Given the description of an element on the screen output the (x, y) to click on. 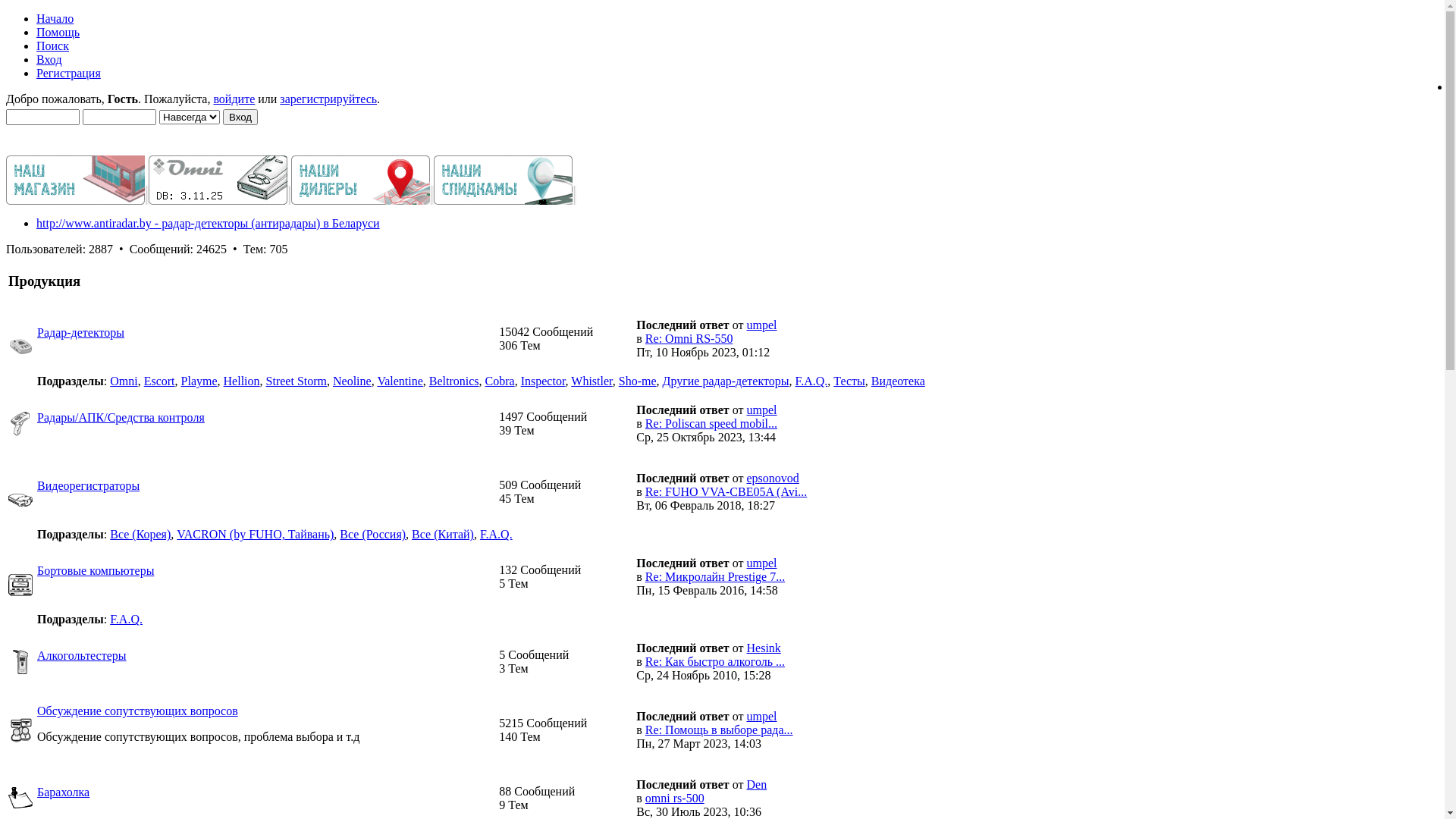
Whistler Element type: text (591, 380)
Playme Element type: text (199, 380)
umpel Element type: text (761, 562)
Hellion Element type: text (241, 380)
F.A.Q. Element type: text (496, 533)
umpel Element type: text (761, 409)
umpel Element type: text (761, 715)
Beltronics Element type: text (454, 380)
Inspector Element type: text (542, 380)
Neoline Element type: text (351, 380)
epsonovod Element type: text (772, 477)
Re: Omni RS-550 Element type: text (689, 338)
F.A.Q. Element type: text (811, 380)
Re: Poliscan speed mobil... Element type: text (711, 423)
Re: FUHO VVA-CBE05A (Avi... Element type: text (725, 491)
Sho-me Element type: text (637, 380)
omni rs-500 Element type: text (674, 797)
Omni Element type: text (123, 380)
F.A.Q. Element type: text (125, 618)
Street Storm Element type: text (296, 380)
Escort Element type: text (159, 380)
Valentine Element type: text (399, 380)
umpel Element type: text (761, 324)
Den Element type: text (756, 784)
Hesink Element type: text (763, 647)
Cobra Element type: text (499, 380)
